Given the description of an element on the screen output the (x, y) to click on. 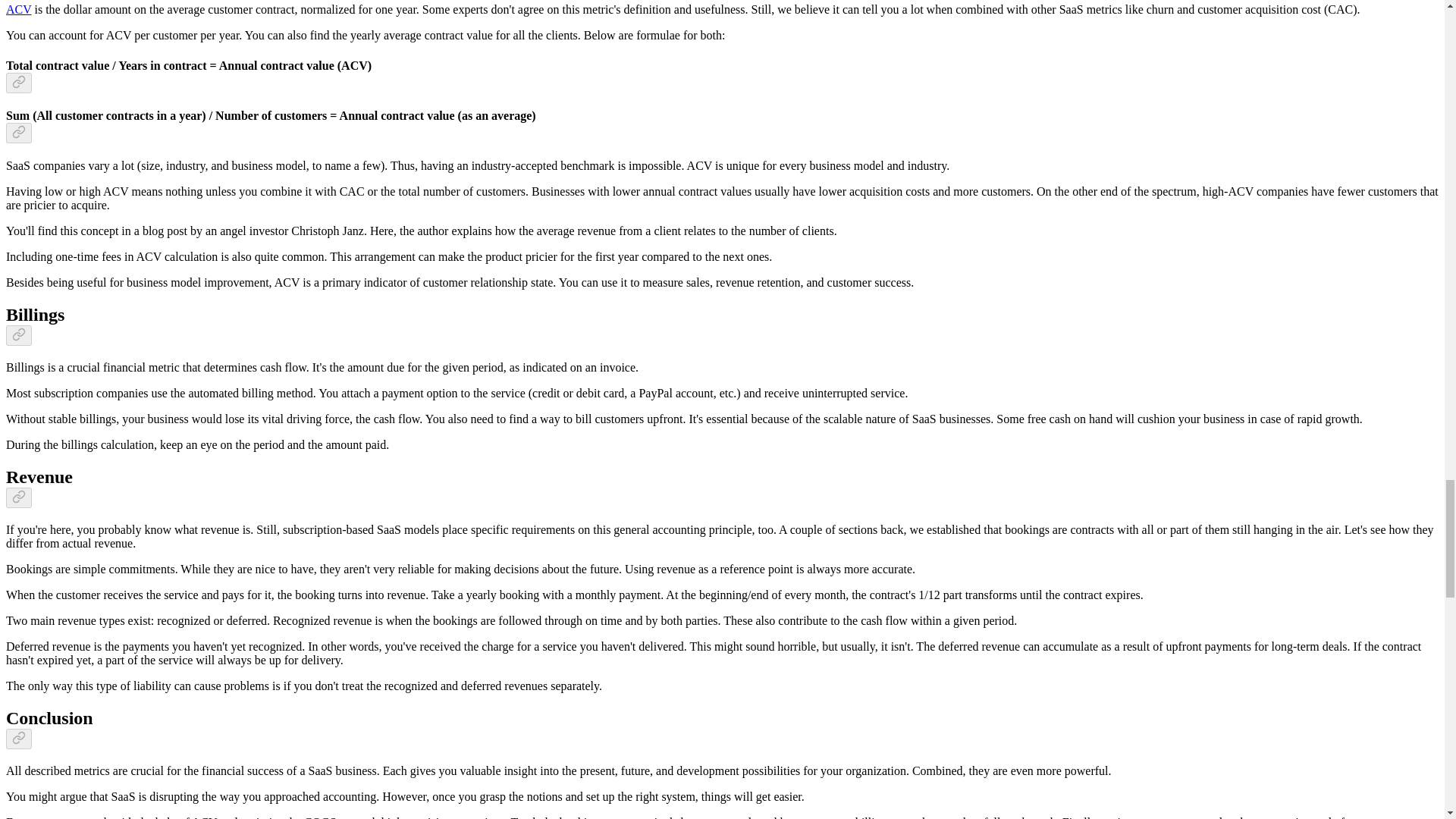
ACV (18, 9)
